Given the description of an element on the screen output the (x, y) to click on. 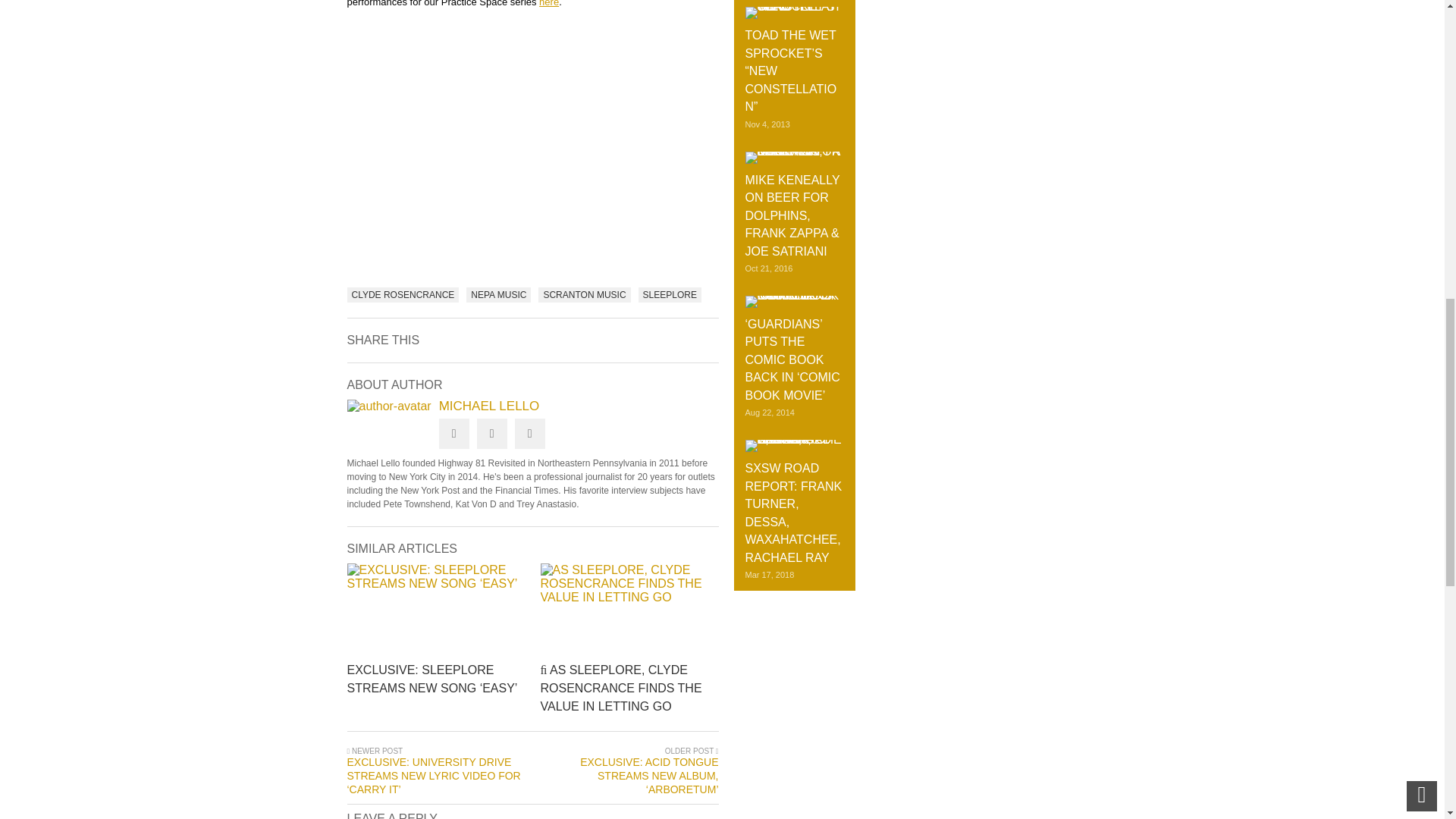
Twitter (453, 433)
Posted byMichael Lello  (388, 405)
here (548, 3)
Posted by Michael Lello (533, 405)
Google Plus (529, 433)
Facebook (491, 433)
Click to read (436, 610)
YouTube video player (533, 138)
CLYDE ROSENCRANCE (403, 294)
